Given the description of an element on the screen output the (x, y) to click on. 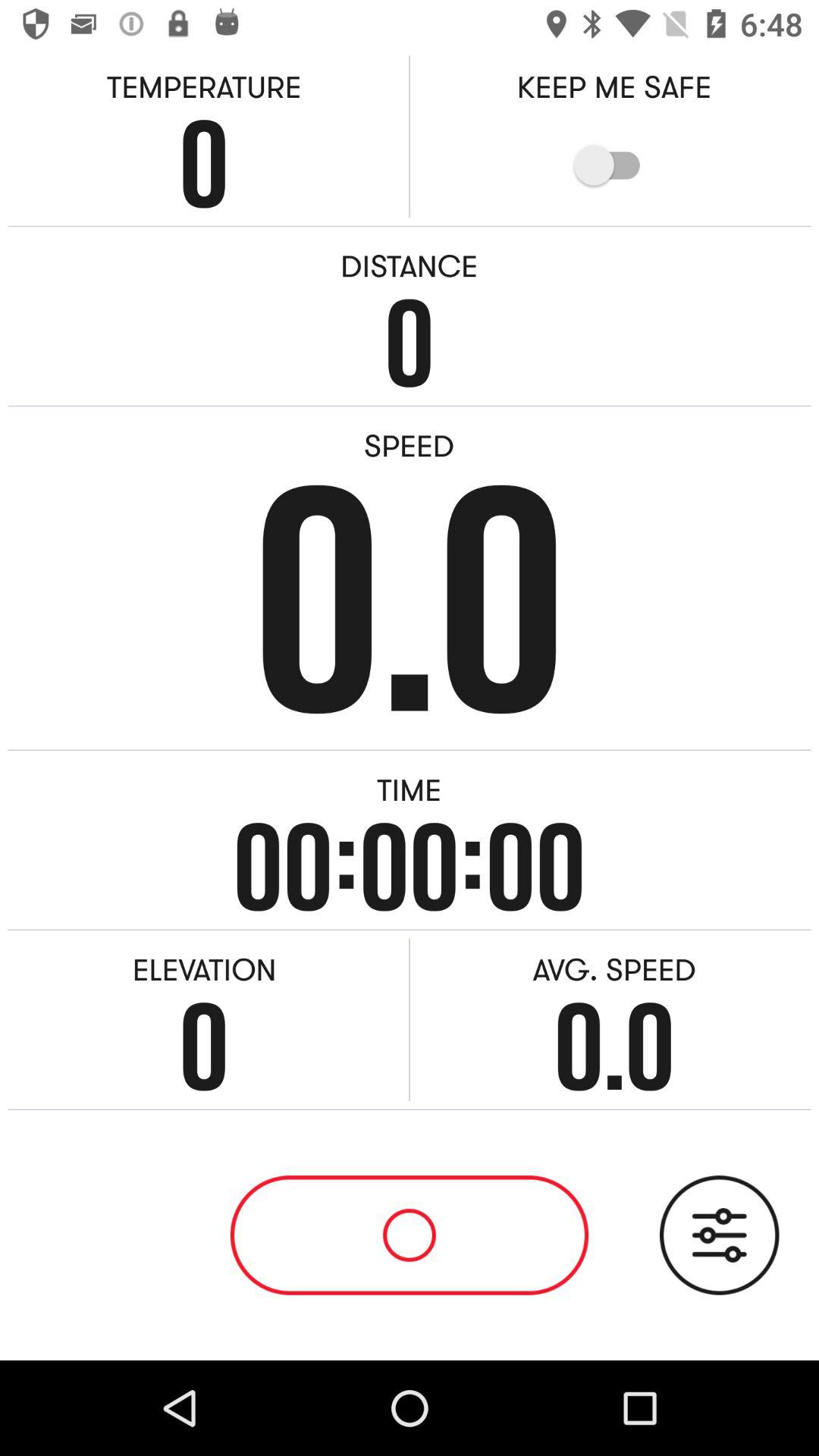
begin recording (409, 1235)
